Given the description of an element on the screen output the (x, y) to click on. 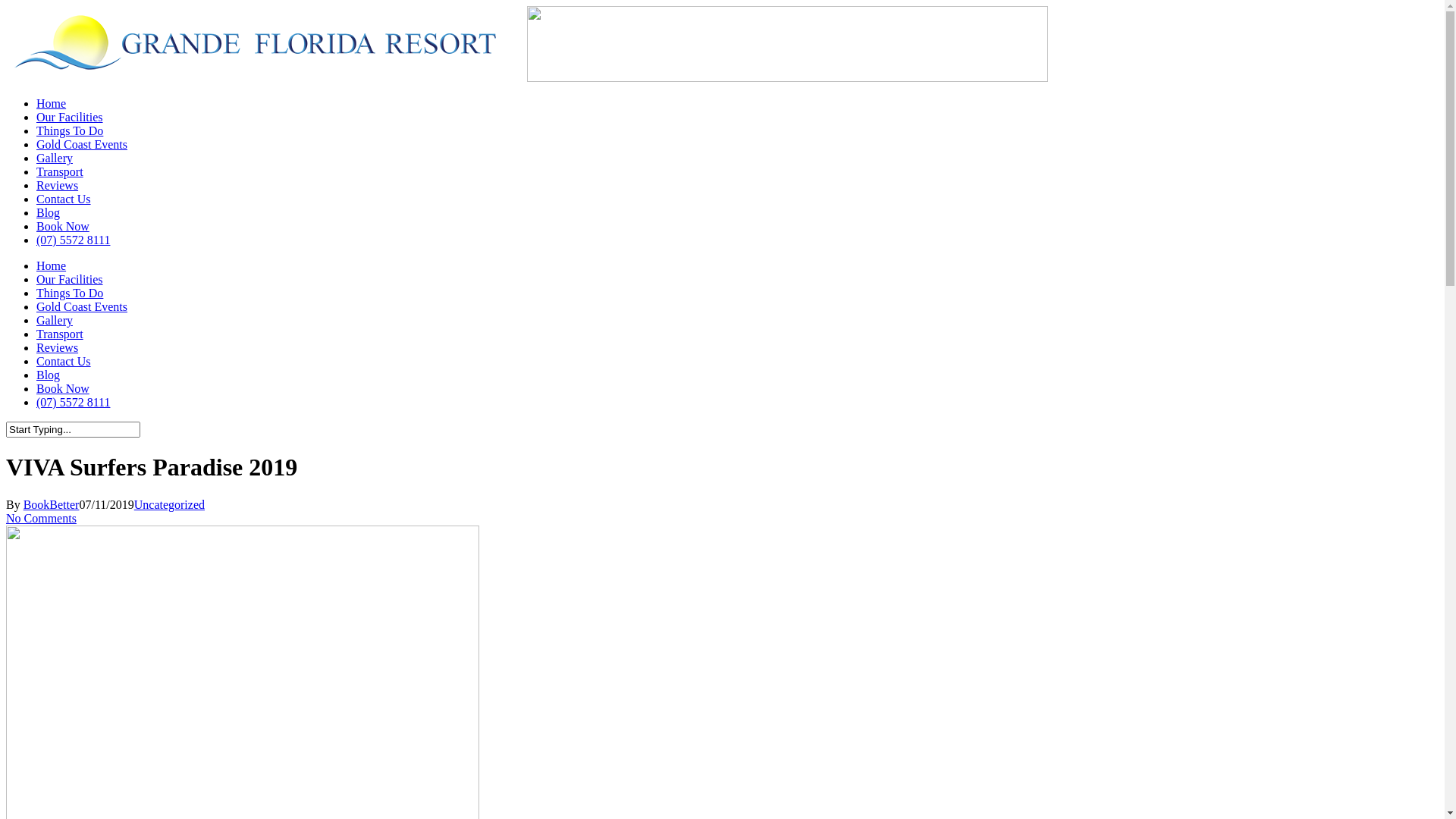
Skip to main content Element type: text (5, 5)
Blog Element type: text (47, 212)
Reviews Element type: text (57, 347)
(07) 5572 8111 Element type: text (72, 239)
Transport Element type: text (59, 171)
Our Facilities Element type: text (69, 279)
(07) 5572 8111 Element type: text (72, 401)
Gold Coast Events Element type: text (81, 144)
Blog Element type: text (47, 374)
Our Facilities Element type: text (69, 116)
No Comments Element type: text (41, 517)
Things To Do Element type: text (69, 130)
Home Element type: text (50, 265)
Book Now Element type: text (62, 225)
Book Now Element type: text (62, 388)
Gallery Element type: text (54, 319)
Things To Do Element type: text (69, 292)
Reviews Element type: text (57, 184)
Contact Us Element type: text (63, 198)
Uncategorized Element type: text (169, 504)
Gallery Element type: text (54, 157)
Contact Us Element type: text (63, 360)
Home Element type: text (50, 103)
Transport Element type: text (59, 333)
BookBetter Element type: text (51, 504)
Gold Coast Events Element type: text (81, 306)
